Given the description of an element on the screen output the (x, y) to click on. 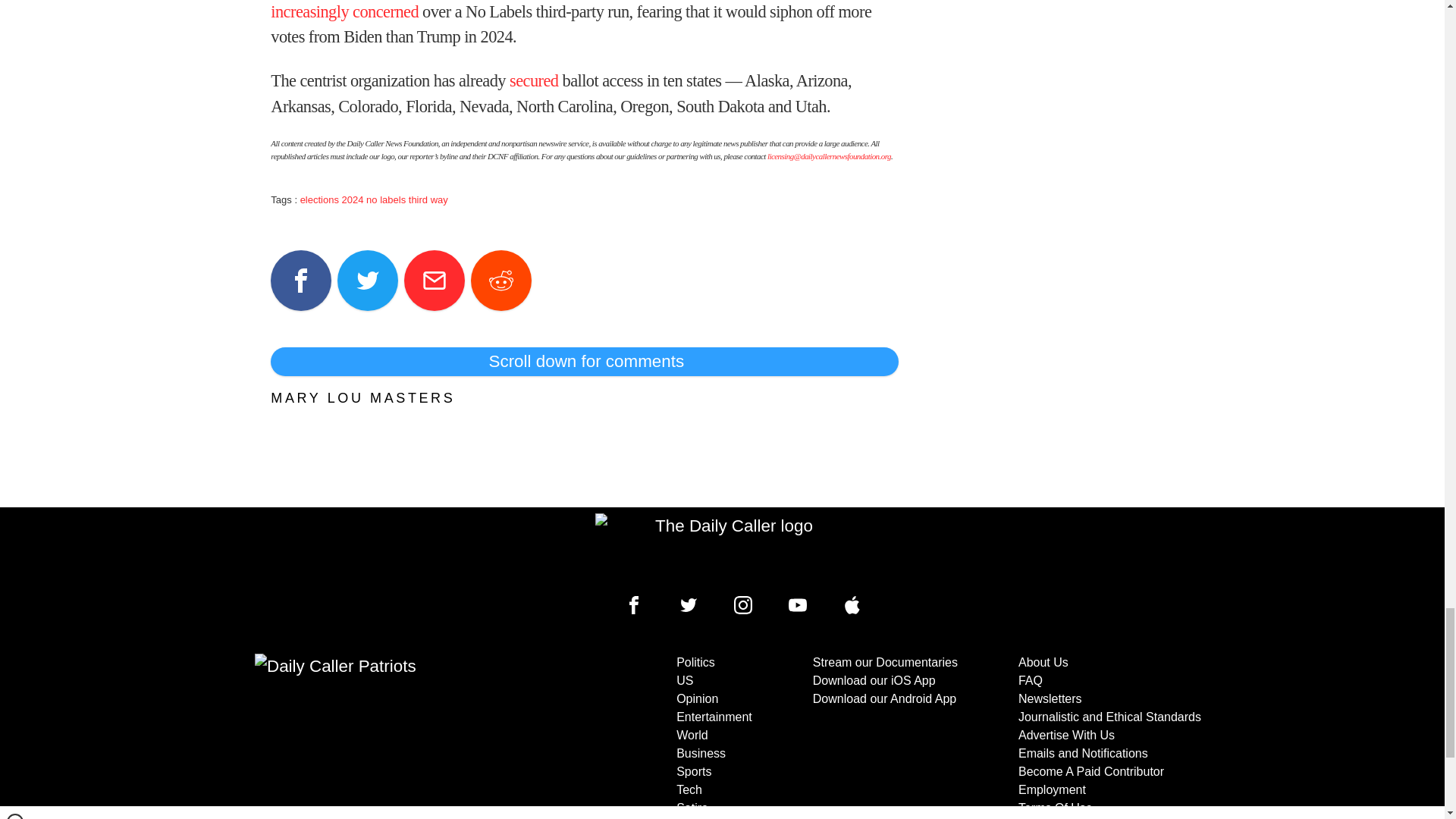
Daily Caller YouTube (797, 605)
To home page (727, 548)
Daily Caller Twitter (688, 605)
Daily Caller Instagram (742, 605)
Subscribe to The Daily Caller (405, 736)
Daily Caller Facebook (633, 605)
Daily Caller YouTube (852, 605)
Scroll down for comments (584, 361)
